Given the description of an element on the screen output the (x, y) to click on. 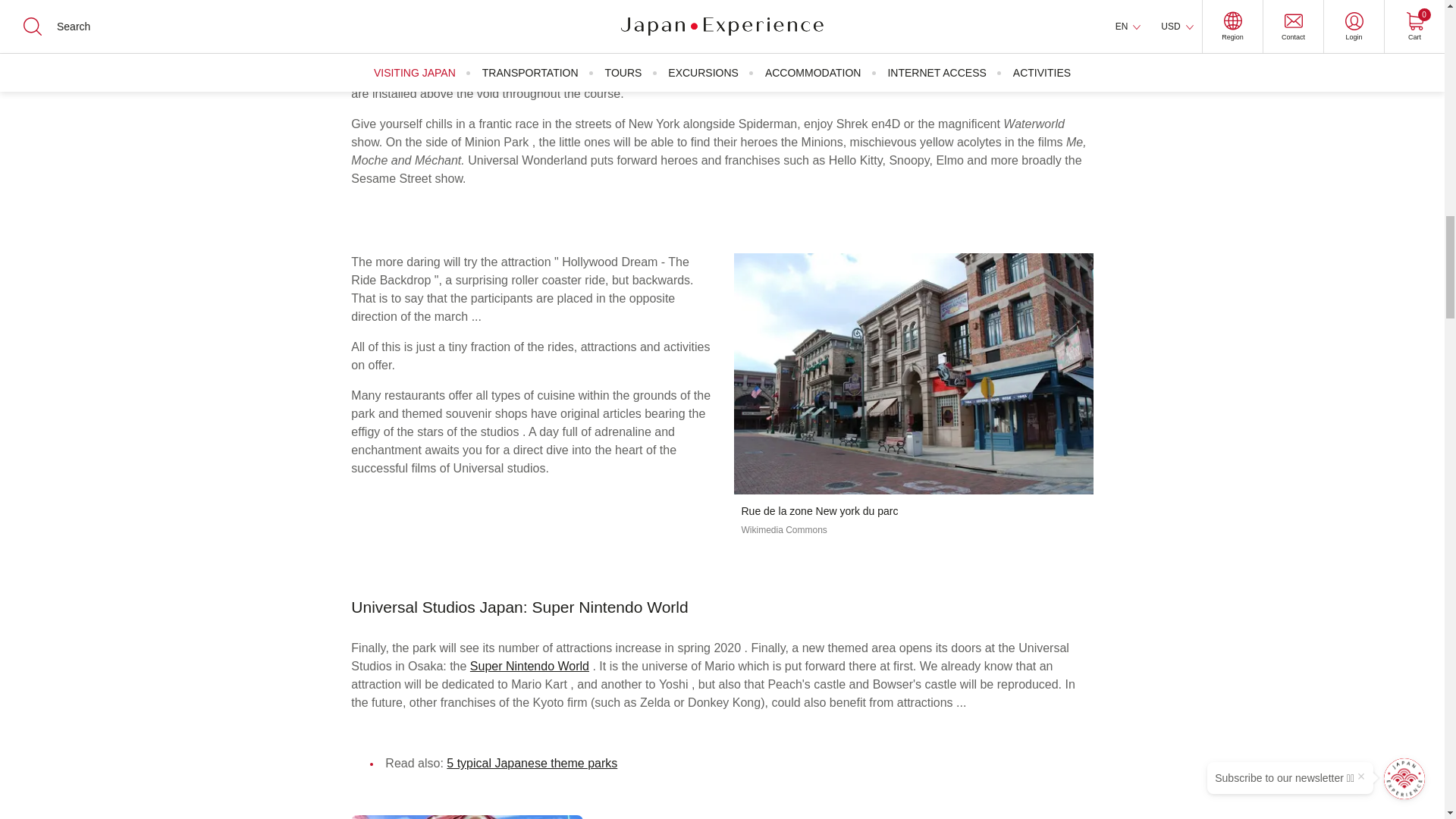
Universal Studios Japan (913, 373)
